Given the description of an element on the screen output the (x, y) to click on. 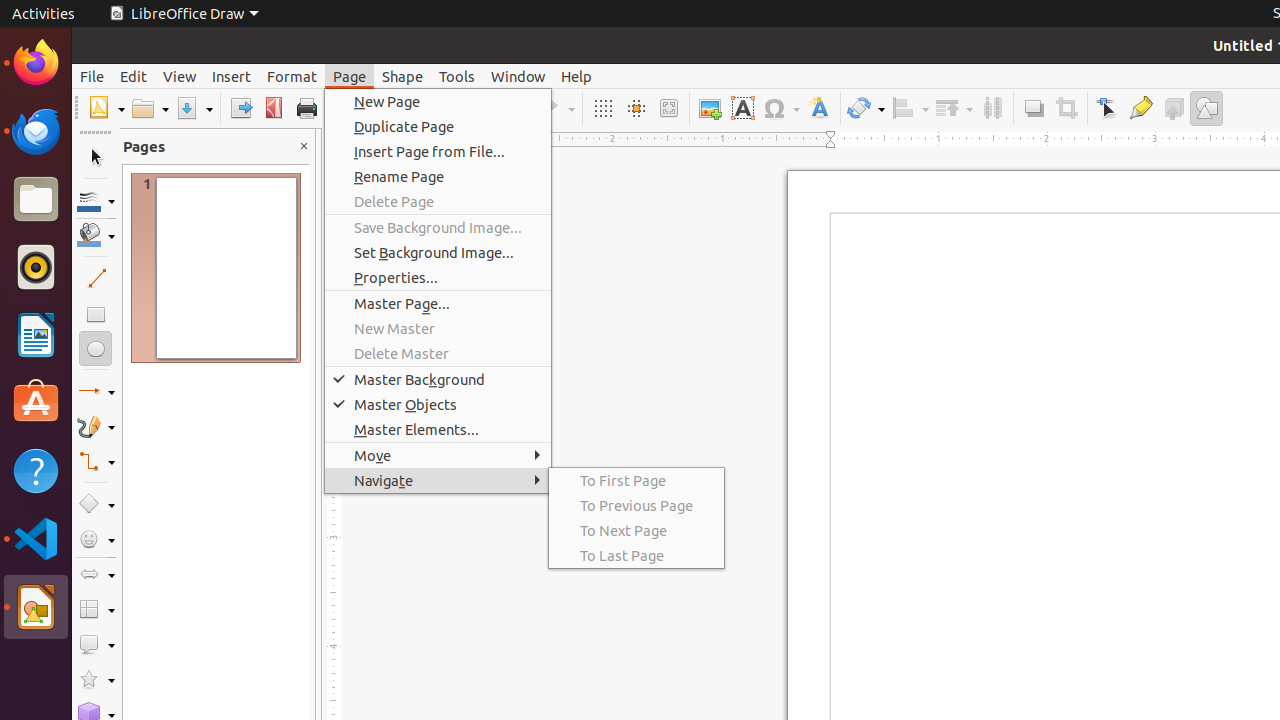
Shadow Element type: toggle-button (1033, 108)
To Next Page Element type: menu-item (636, 530)
Thunderbird Mail Element type: push-button (36, 131)
Symbol Element type: push-button (781, 108)
Window Element type: menu (518, 76)
